Given the description of an element on the screen output the (x, y) to click on. 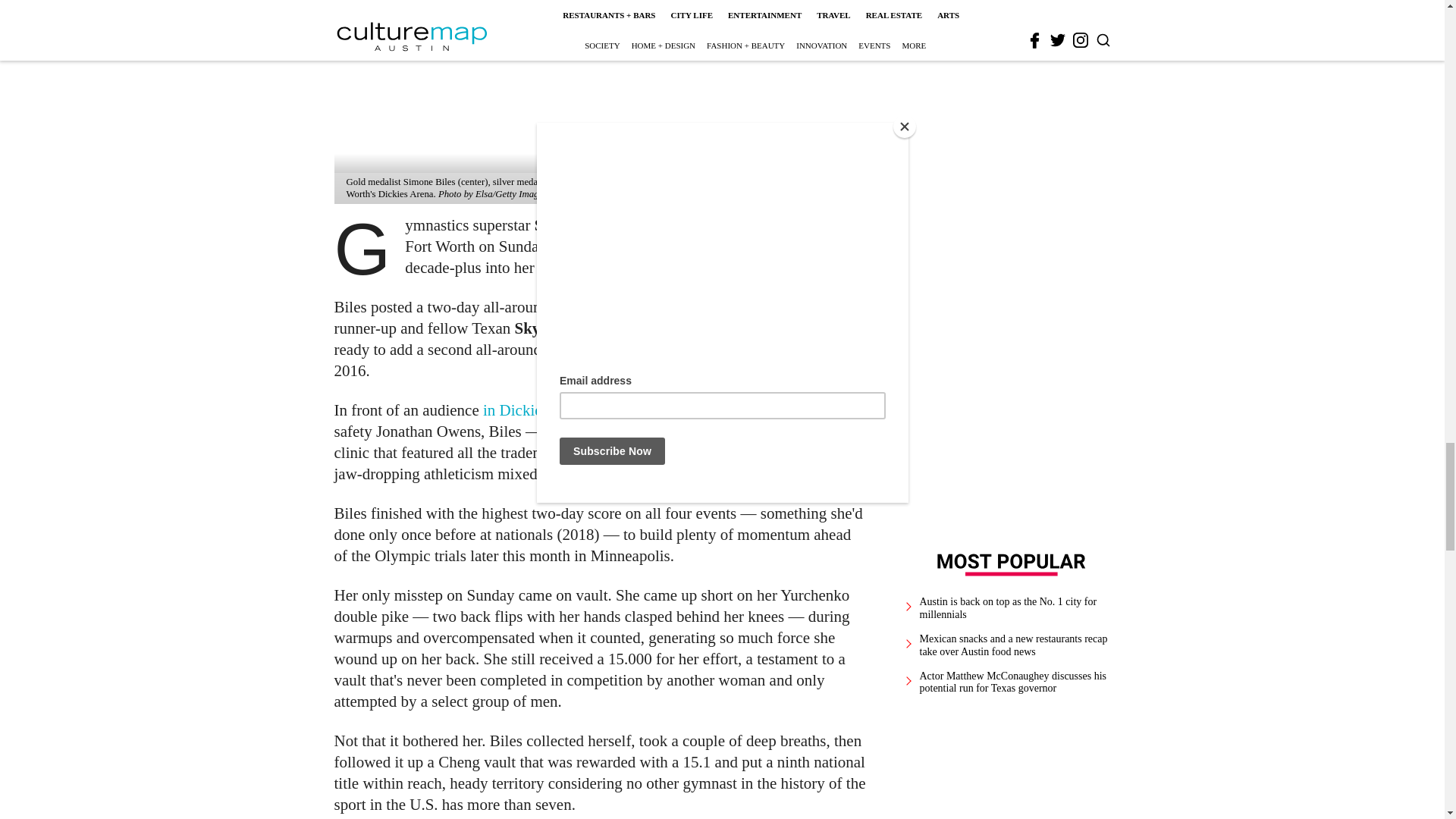
3rd party ad content (1011, 129)
